Given the description of an element on the screen output the (x, y) to click on. 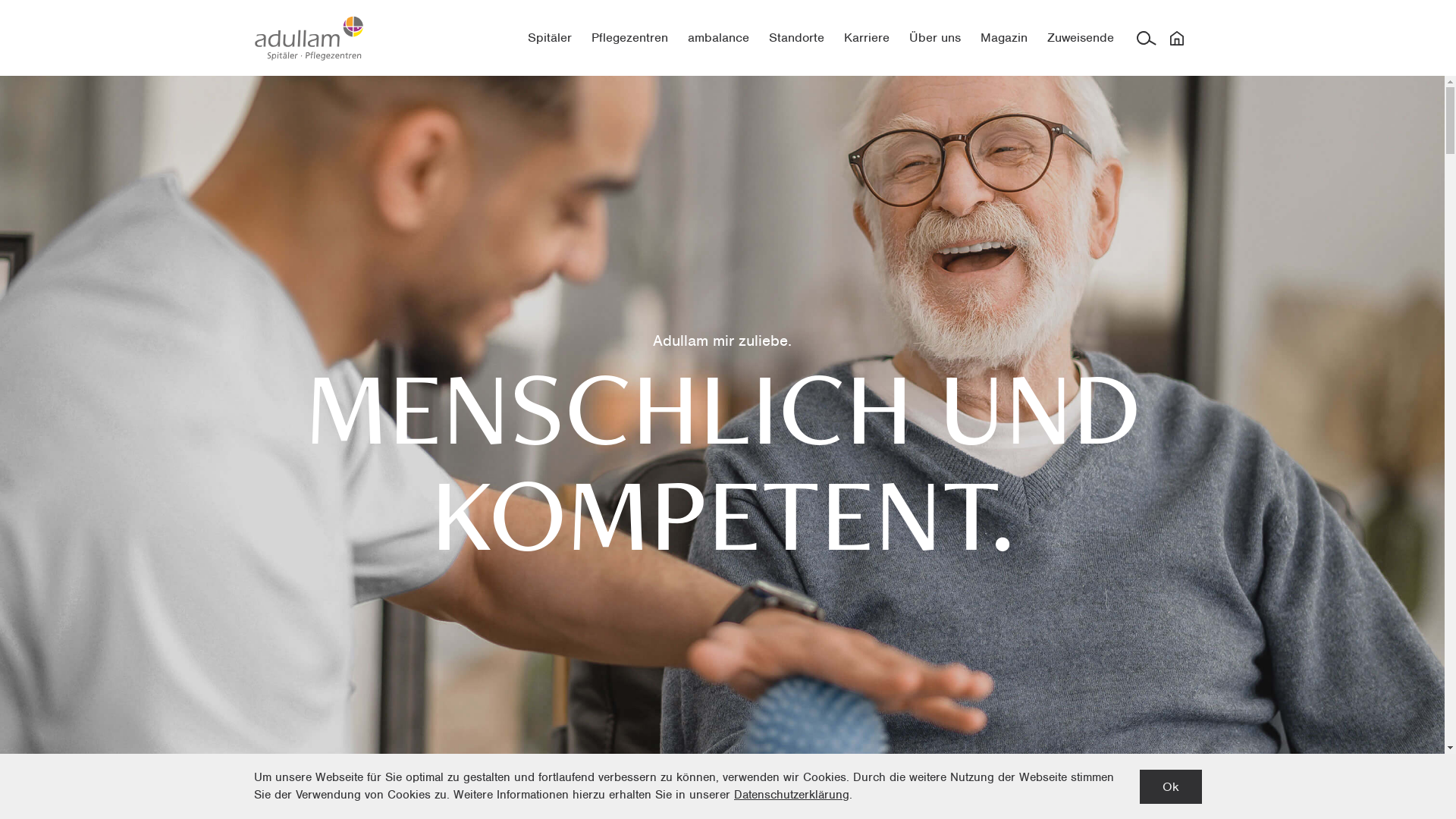
Zuweisende Element type: text (1080, 37)
Pflegezentren Element type: text (629, 37)
Magazin Element type: text (1003, 37)
Ok Element type: text (1170, 786)
ambalance Element type: text (718, 37)
Standorte Element type: text (796, 37)
Karriere Element type: text (866, 37)
